Given the description of an element on the screen output the (x, y) to click on. 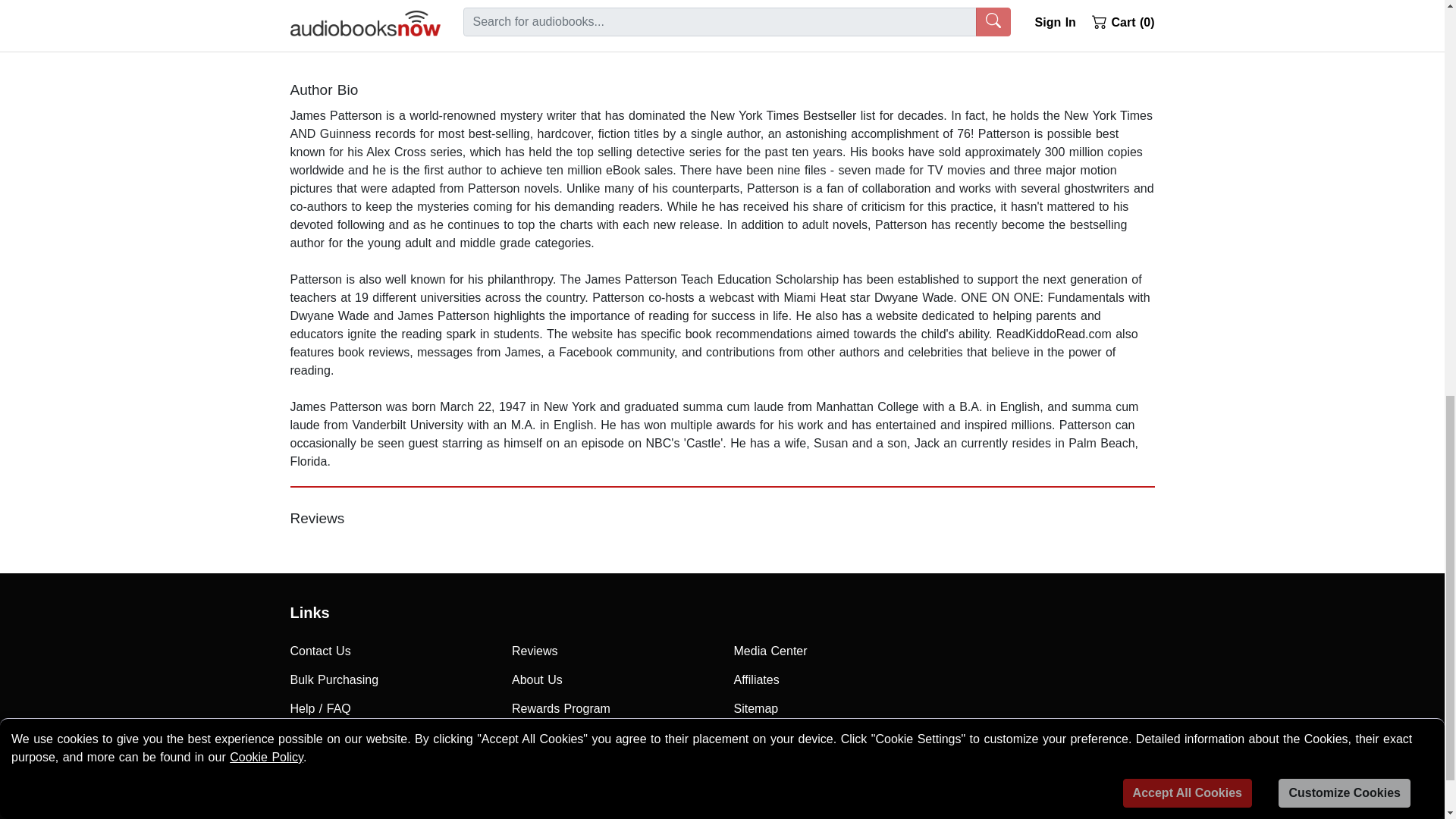
Bulk Purchasing (389, 679)
About Us (611, 679)
Join Mailing List (389, 737)
Reviews (611, 651)
Contact Us (389, 651)
